Given the description of an element on the screen output the (x, y) to click on. 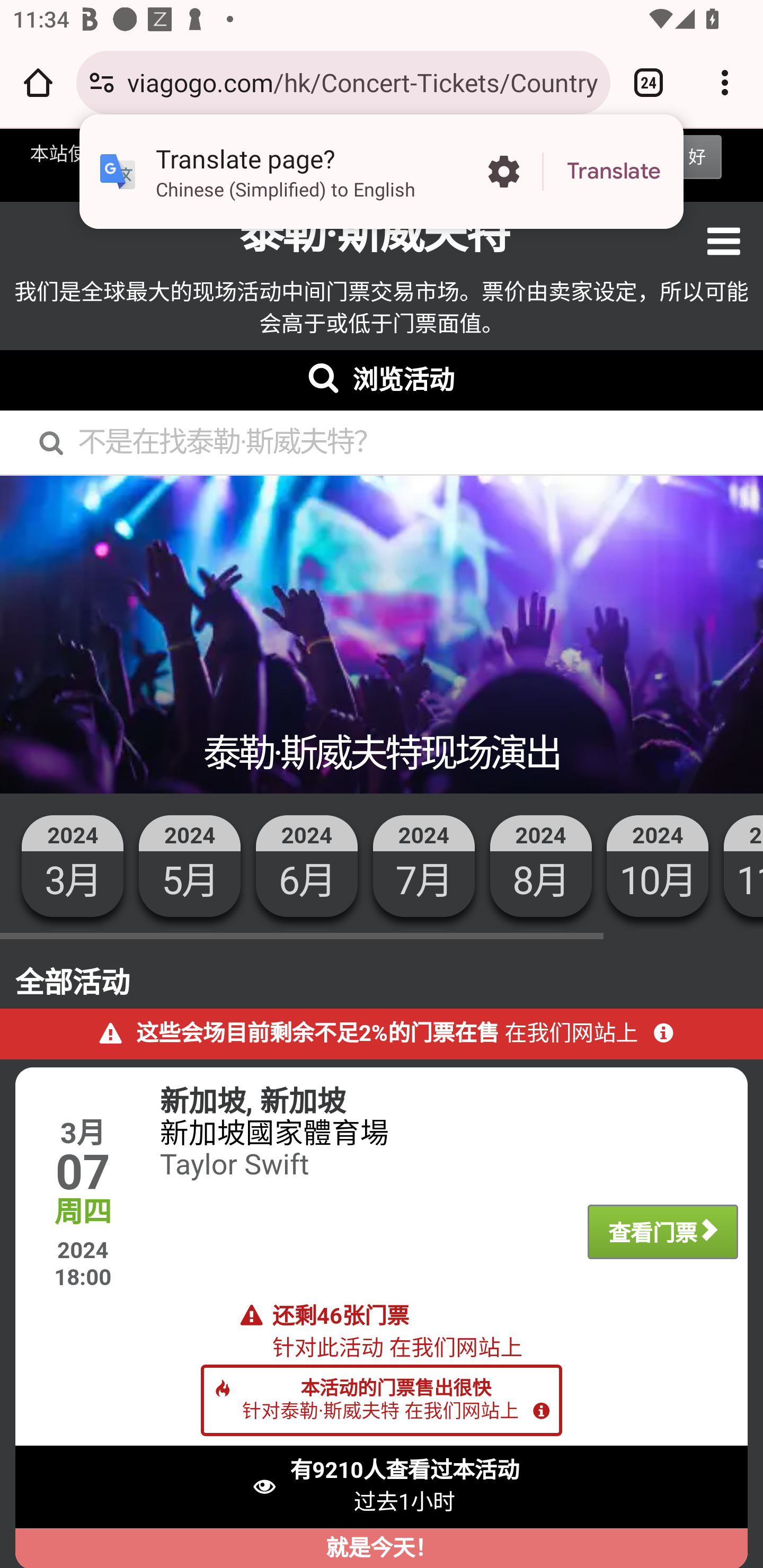
Open the home page (38, 82)
Connection is secure (101, 82)
Switch or close tabs (648, 82)
Customize and control Google Chrome (724, 82)
Translate (613, 171)
More options in the Translate page? (503, 171)
